Given the description of an element on the screen output the (x, y) to click on. 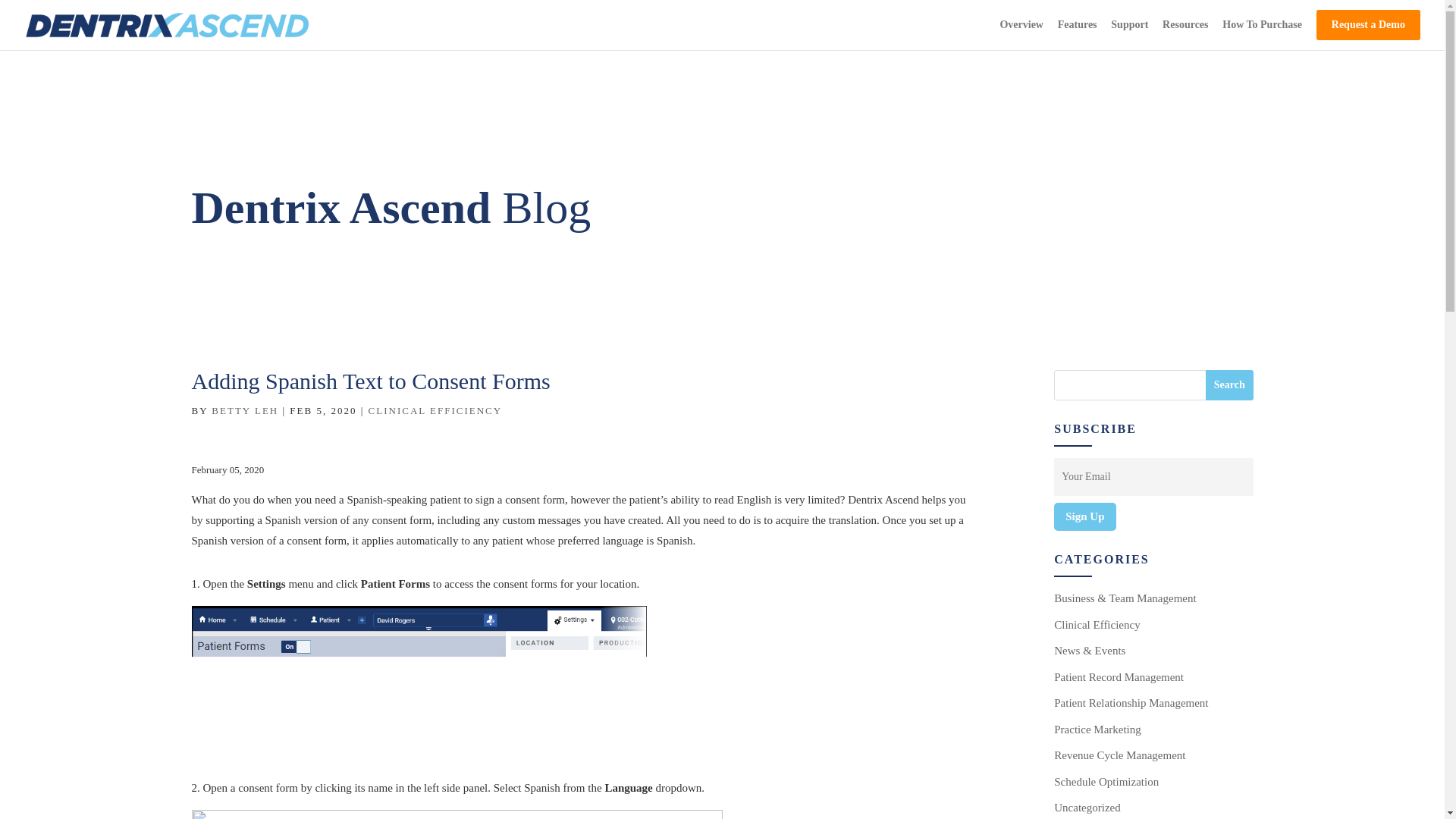
Support (1129, 33)
Revenue Cycle Management (1119, 755)
Search (1229, 385)
Sign Up (1084, 516)
Features (1077, 33)
Patient Record Management (1118, 676)
How To Purchase (1262, 33)
Patient Relationship Management (1131, 702)
CLINICAL EFFICIENCY (435, 410)
Uncategorized (1086, 807)
